Given the description of an element on the screen output the (x, y) to click on. 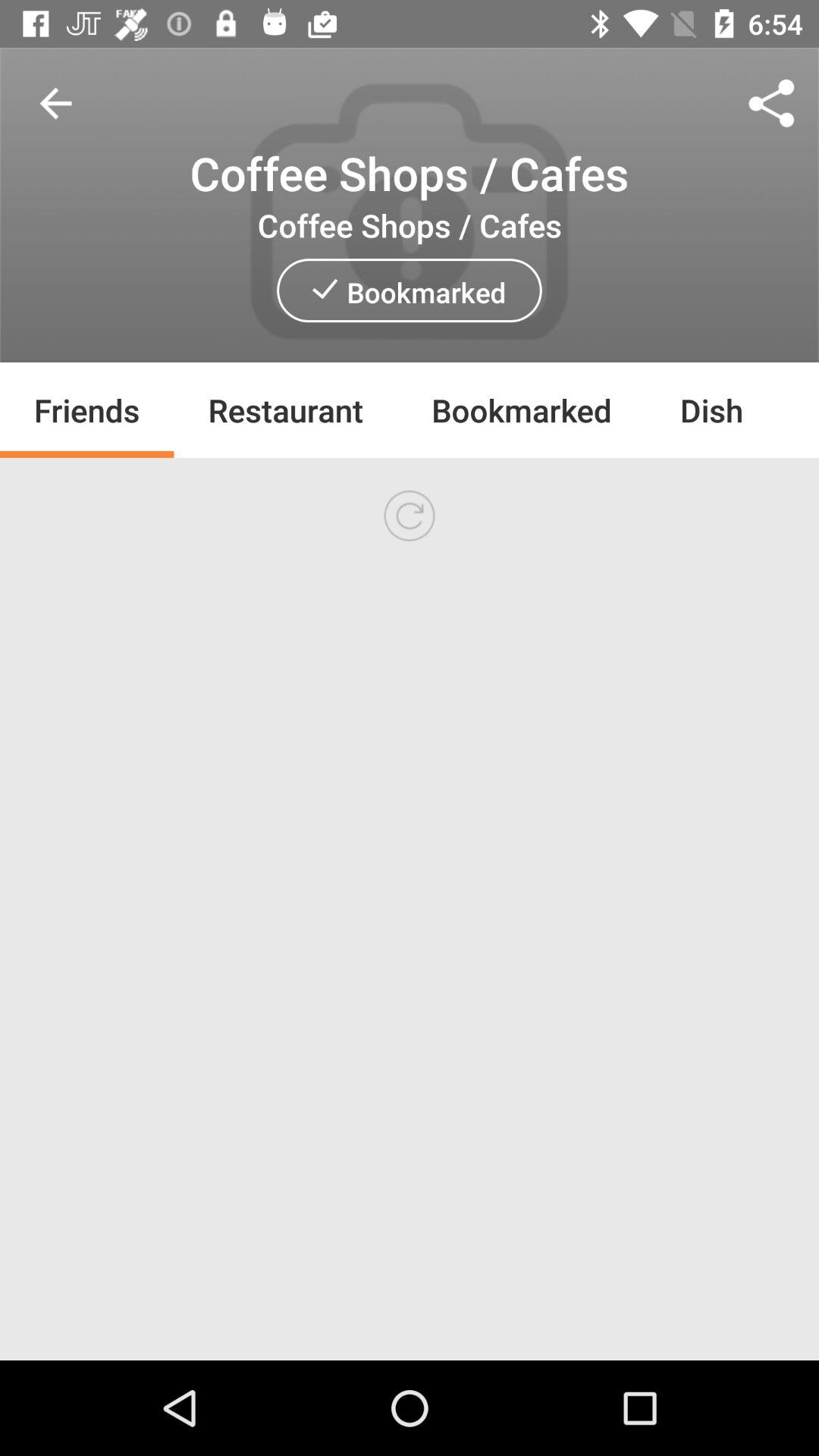
launch icon at the center (409, 515)
